Given the description of an element on the screen output the (x, y) to click on. 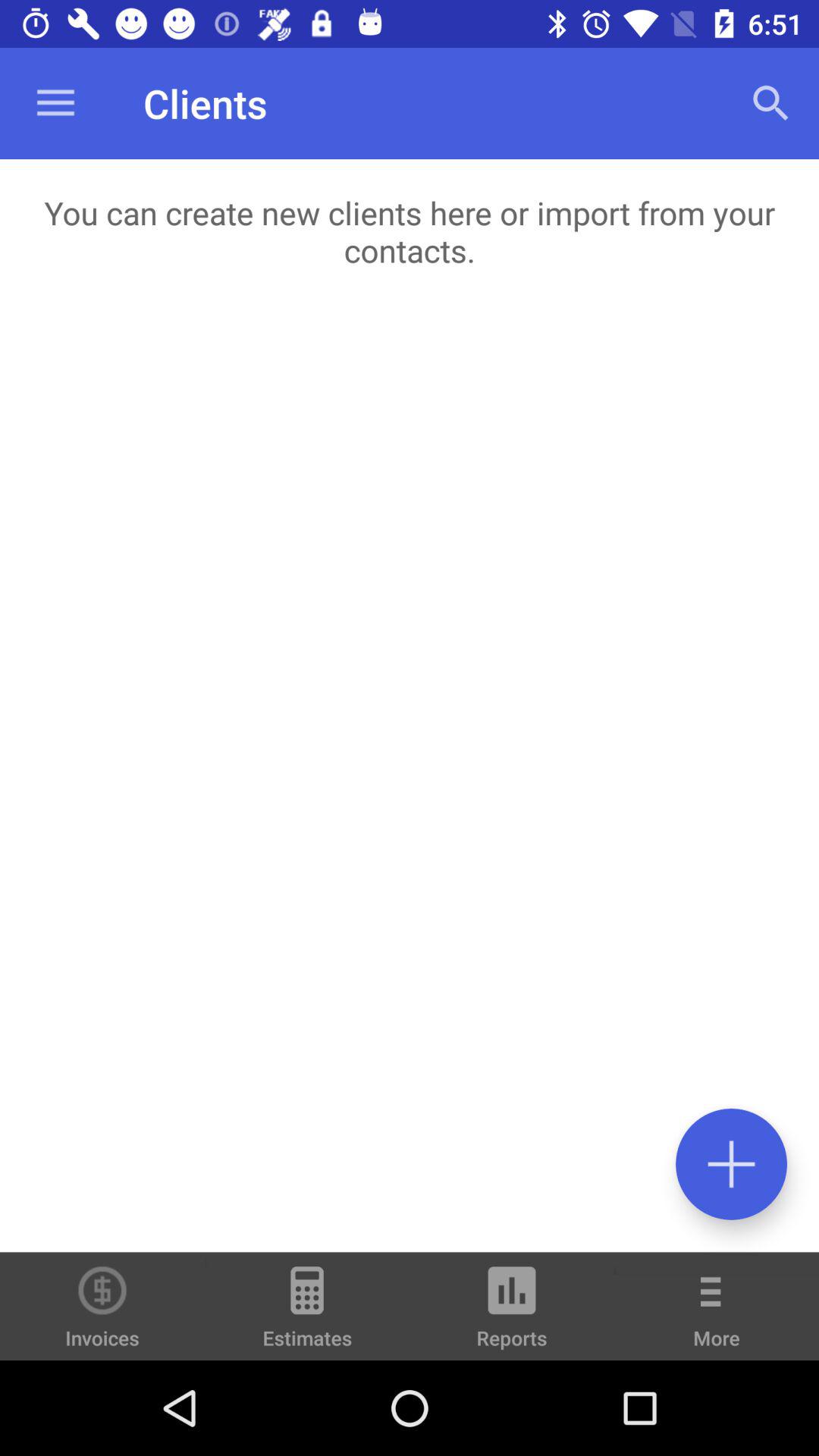
open item next to the reports item (306, 1313)
